Given the description of an element on the screen output the (x, y) to click on. 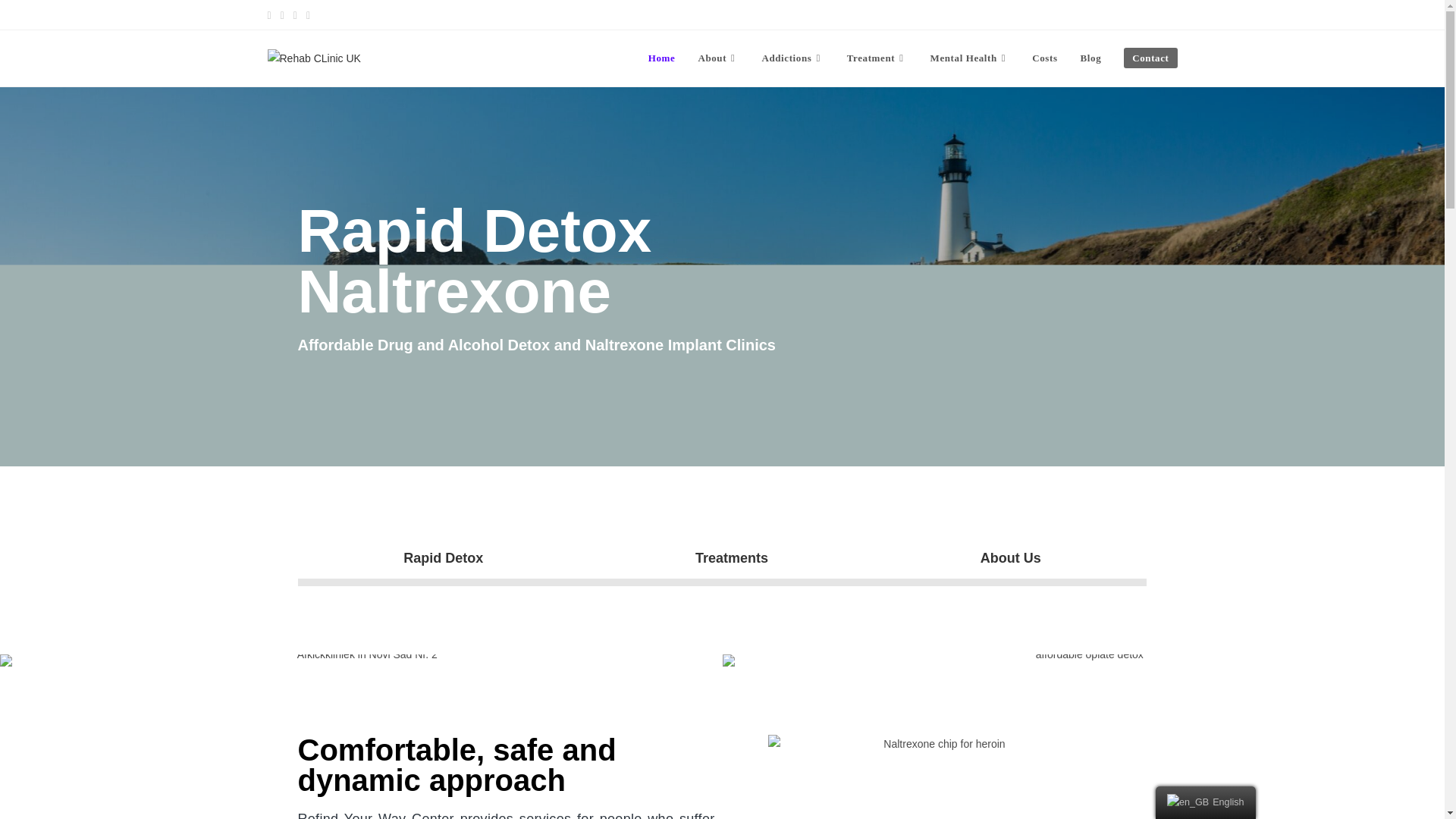
Treatment (876, 58)
Addictions (791, 58)
Mental Health (970, 58)
About (717, 58)
Home (662, 58)
English (1187, 802)
